Given the description of an element on the screen output the (x, y) to click on. 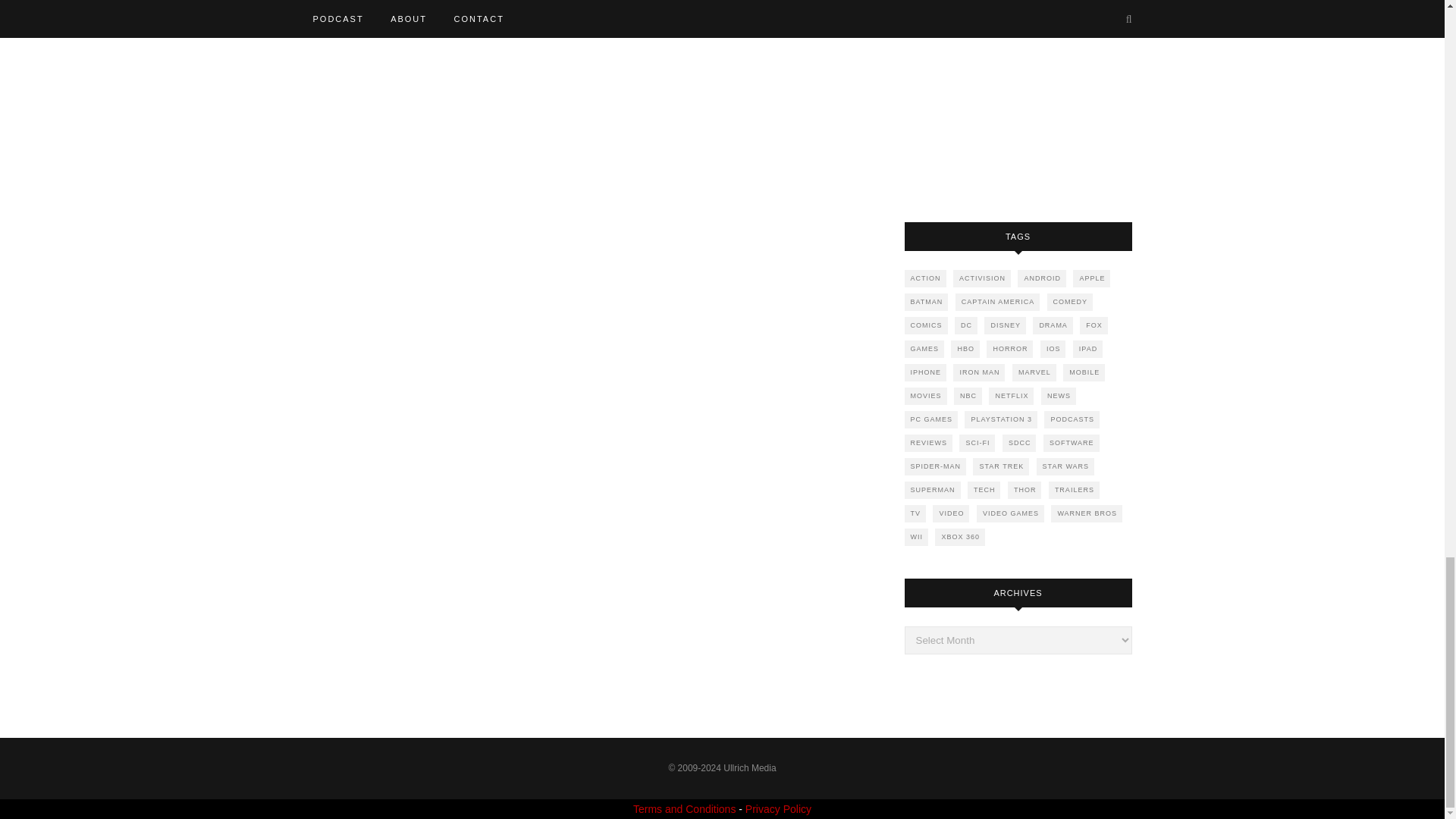
Advertisement (1017, 96)
ACTION (924, 278)
ACTIVISION (981, 278)
